Given the description of an element on the screen output the (x, y) to click on. 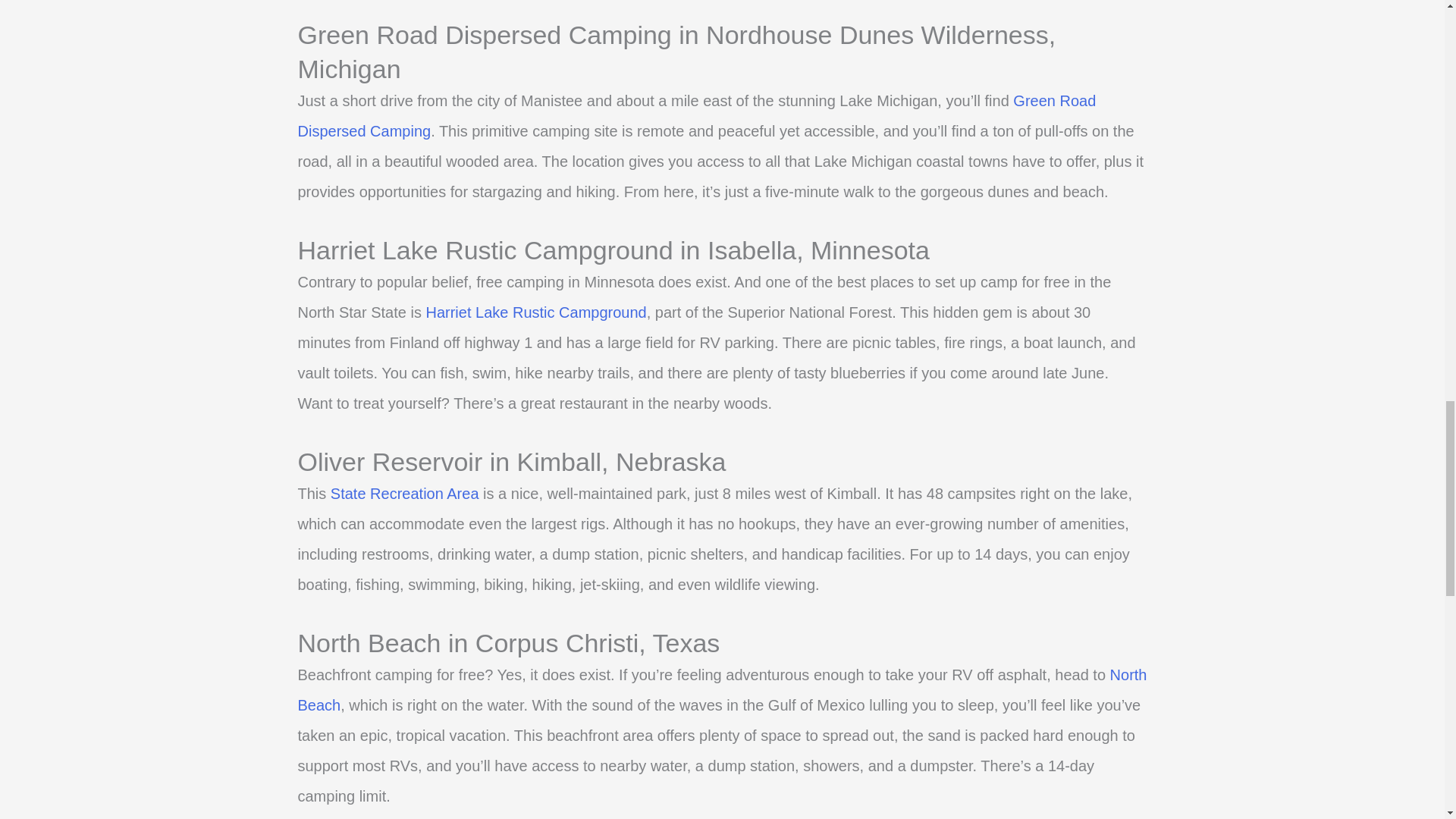
Harriet Lake Rustic Campground (535, 312)
Green Road Dispersed Camping (696, 115)
State Recreation Area (404, 493)
North Beach (722, 689)
